Given the description of an element on the screen output the (x, y) to click on. 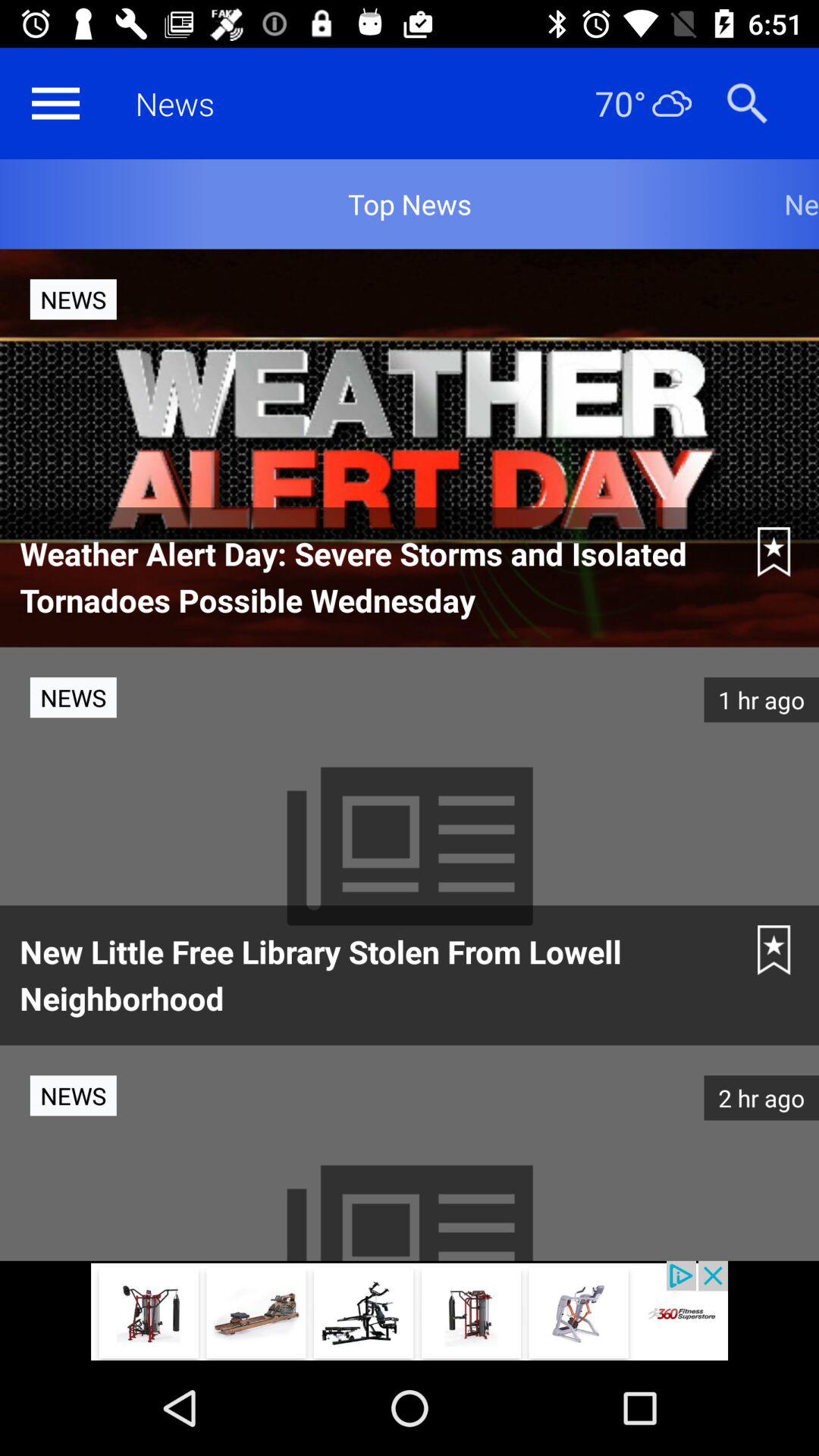
go to search (747, 103)
